Given the description of an element on the screen output the (x, y) to click on. 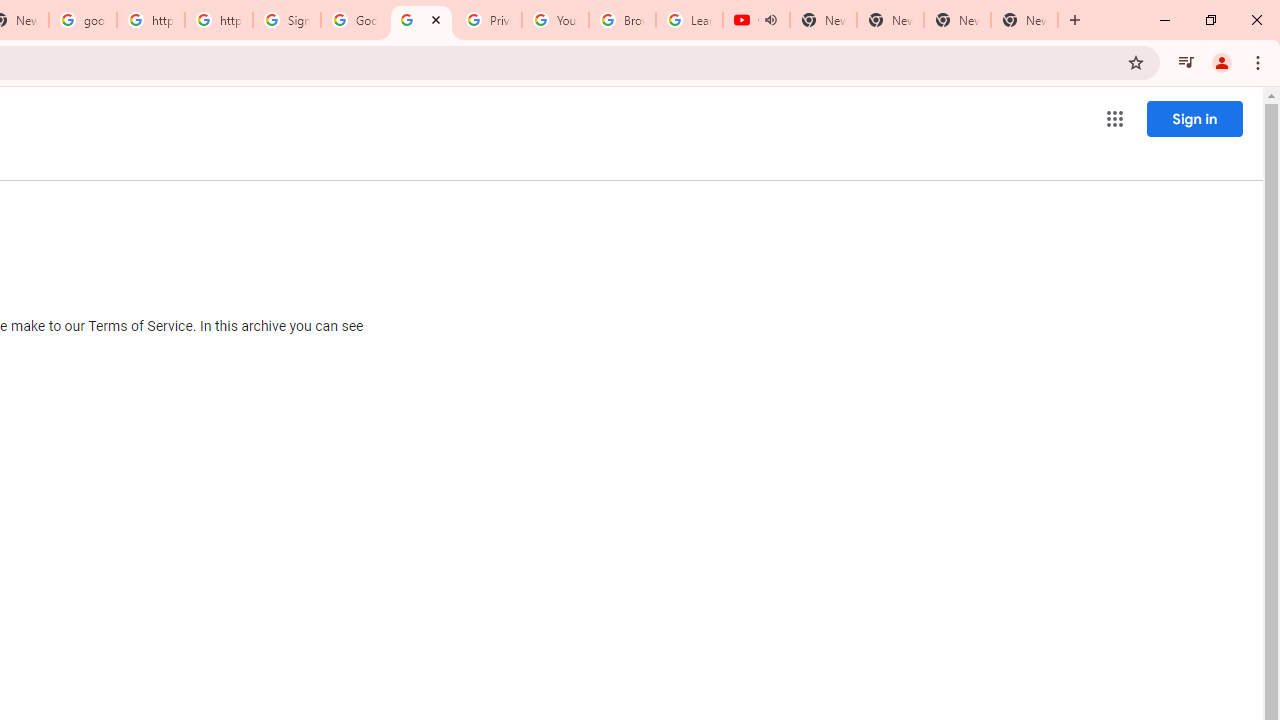
YouTube (555, 20)
Sign in - Google Accounts (287, 20)
